Given the description of an element on the screen output the (x, y) to click on. 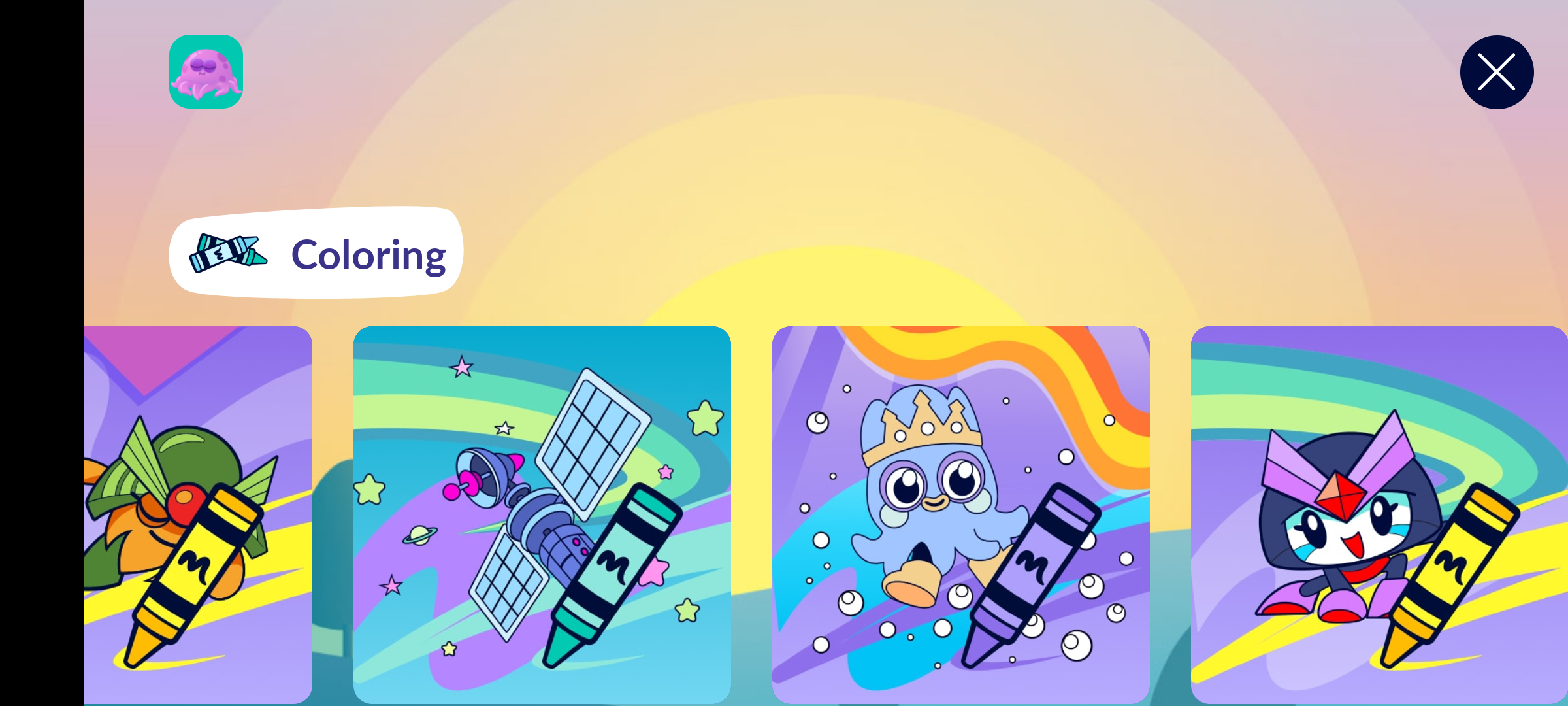
Profile icon (205, 71)
Featured Content (197, 514)
Featured Content (541, 514)
Featured Content (960, 514)
Featured Content (1379, 514)
